Given the description of an element on the screen output the (x, y) to click on. 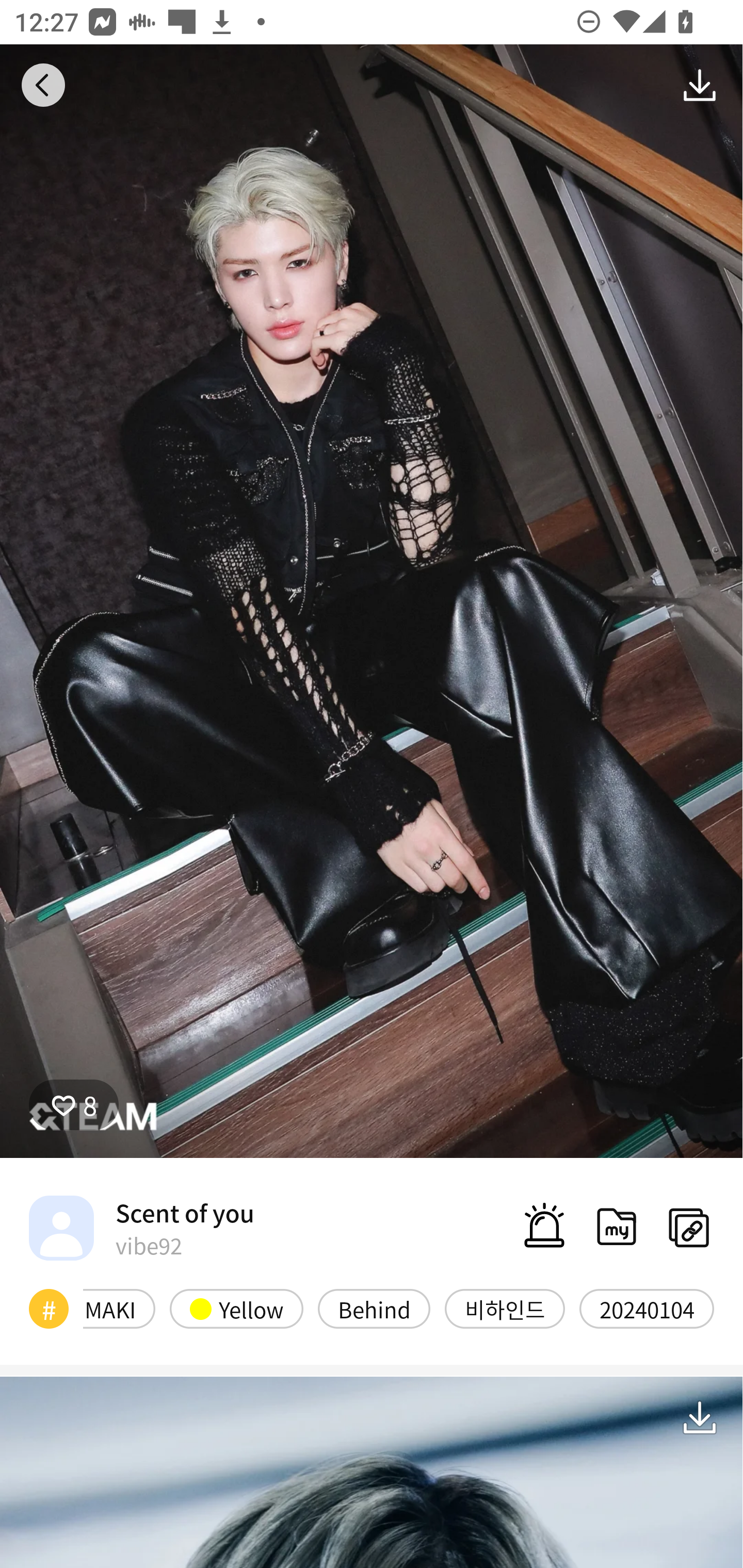
8 (73, 1104)
Scent of you vibe92 (141, 1227)
MAKI (119, 1308)
Yellow (236, 1308)
Behind (374, 1308)
비하인드 (504, 1308)
20240104 (646, 1308)
